Given the description of an element on the screen output the (x, y) to click on. 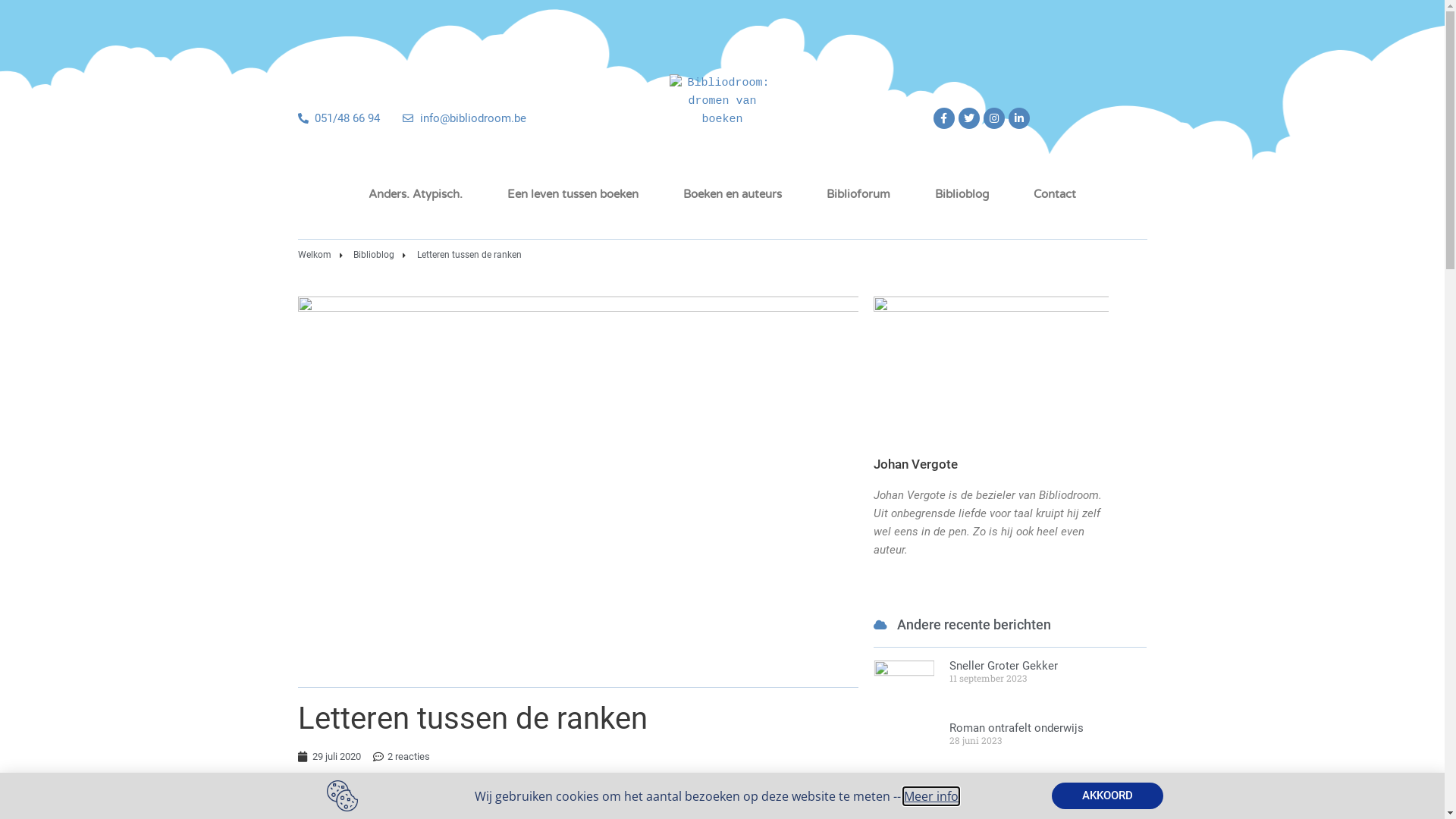
2 reacties Element type: text (401, 757)
Meer info Element type: text (930, 795)
Een canon van koekjes Element type: text (1007, 789)
Een leven tussen boeken Element type: text (572, 193)
Sneller Groter Gekker Element type: text (1003, 665)
Welkom Element type: text (313, 254)
Contact Element type: text (1054, 193)
Biblioblog Element type: text (961, 193)
Roman ontrafelt onderwijs Element type: text (1016, 727)
Anders. Atypisch. Element type: text (415, 193)
Biblioforum Element type: text (858, 193)
Biblioblog Element type: text (367, 254)
info@bibliodroom.be Element type: text (464, 118)
AKKOORD Element type: text (1107, 795)
Boeken en auteurs Element type: text (732, 193)
051/48 66 94 Element type: text (338, 118)
